Given the description of an element on the screen output the (x, y) to click on. 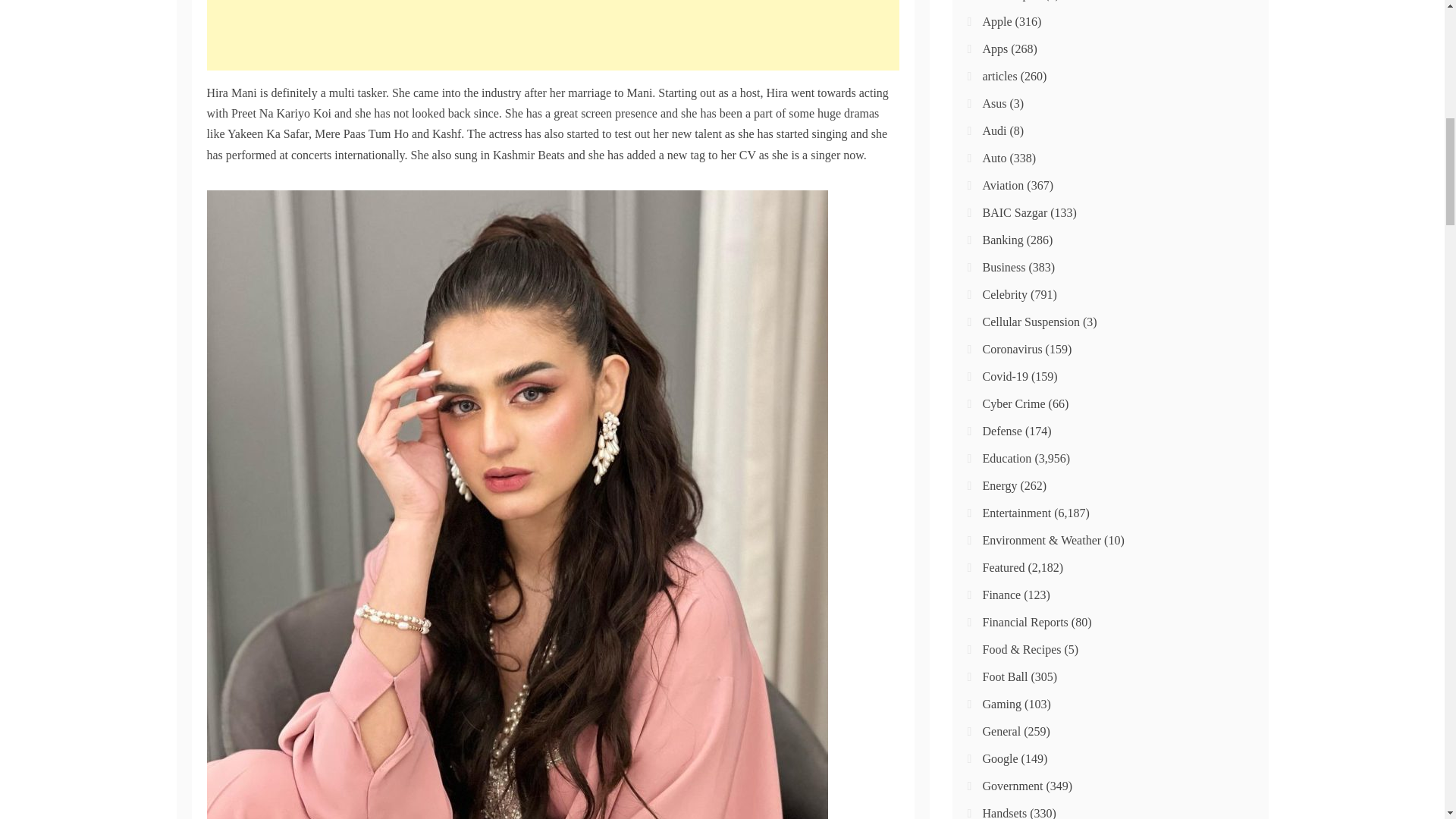
Advertisement (552, 35)
